Given the description of an element on the screen output the (x, y) to click on. 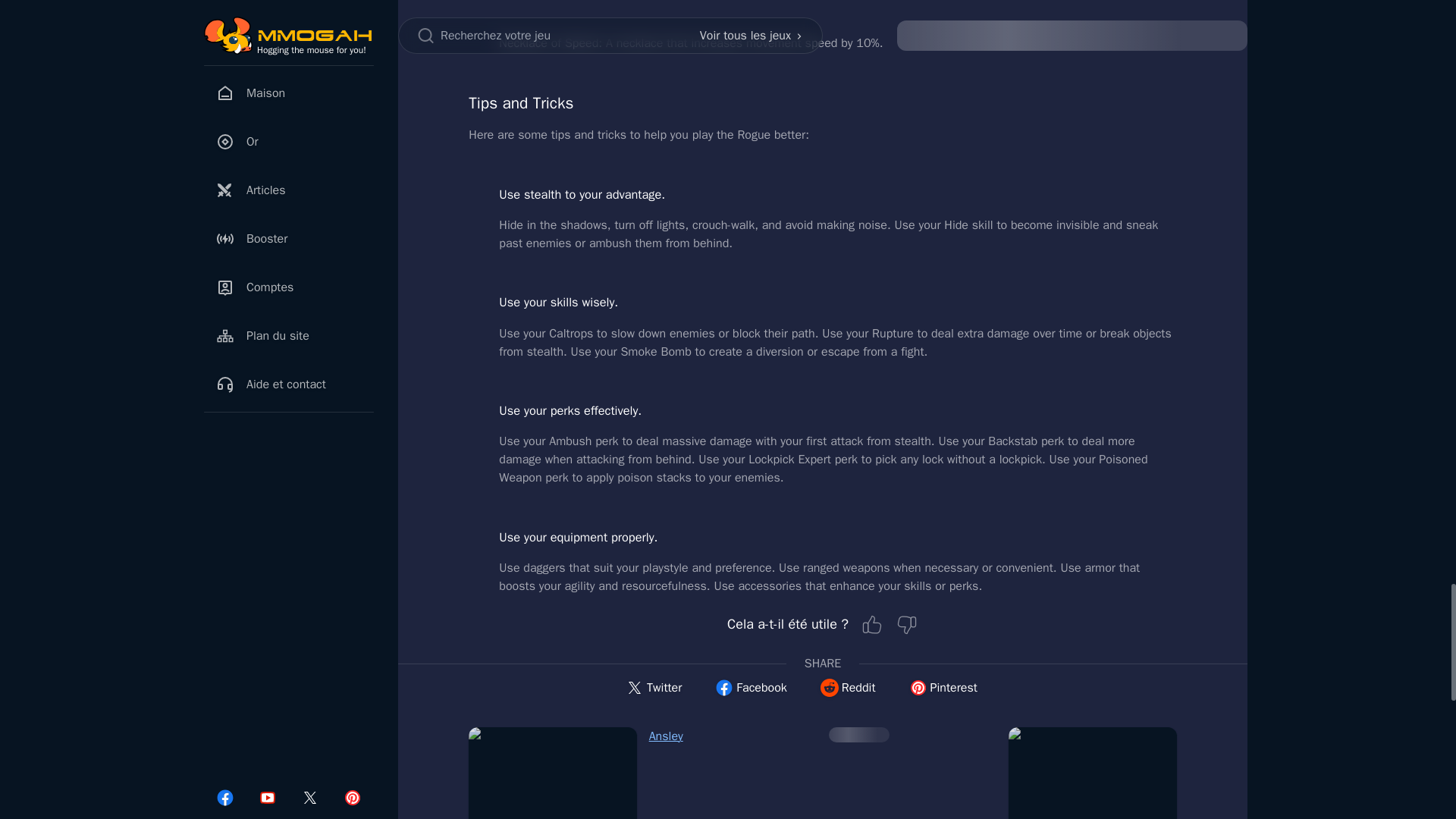
Twitter (653, 687)
Reddit (848, 687)
Facebook (751, 687)
Pinterest (942, 687)
